Given the description of an element on the screen output the (x, y) to click on. 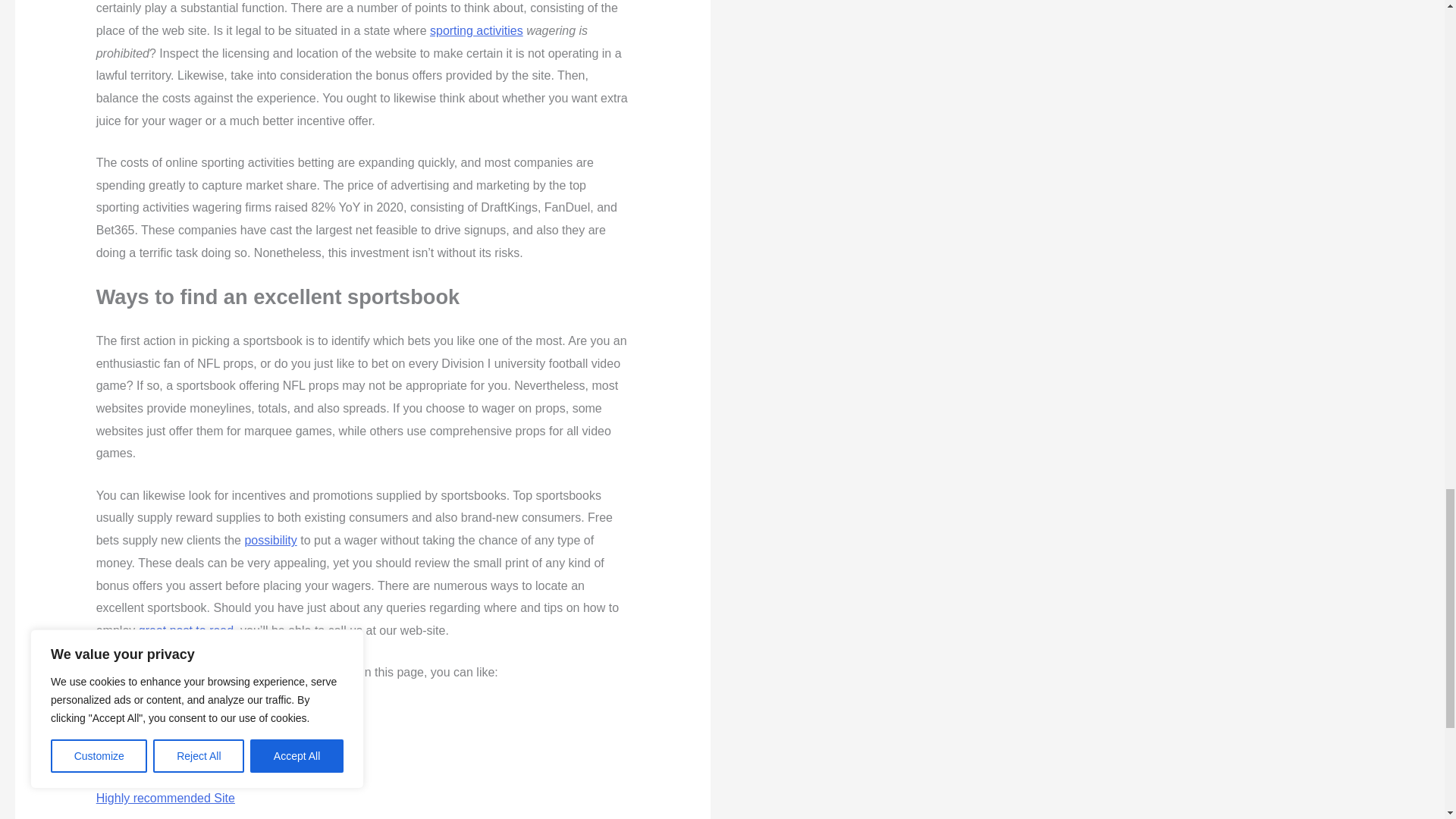
Read Home (128, 756)
great post to read (185, 630)
More methods (134, 714)
Highly recommended Site (165, 797)
possibility (270, 540)
sporting activities (475, 30)
